Given the description of an element on the screen output the (x, y) to click on. 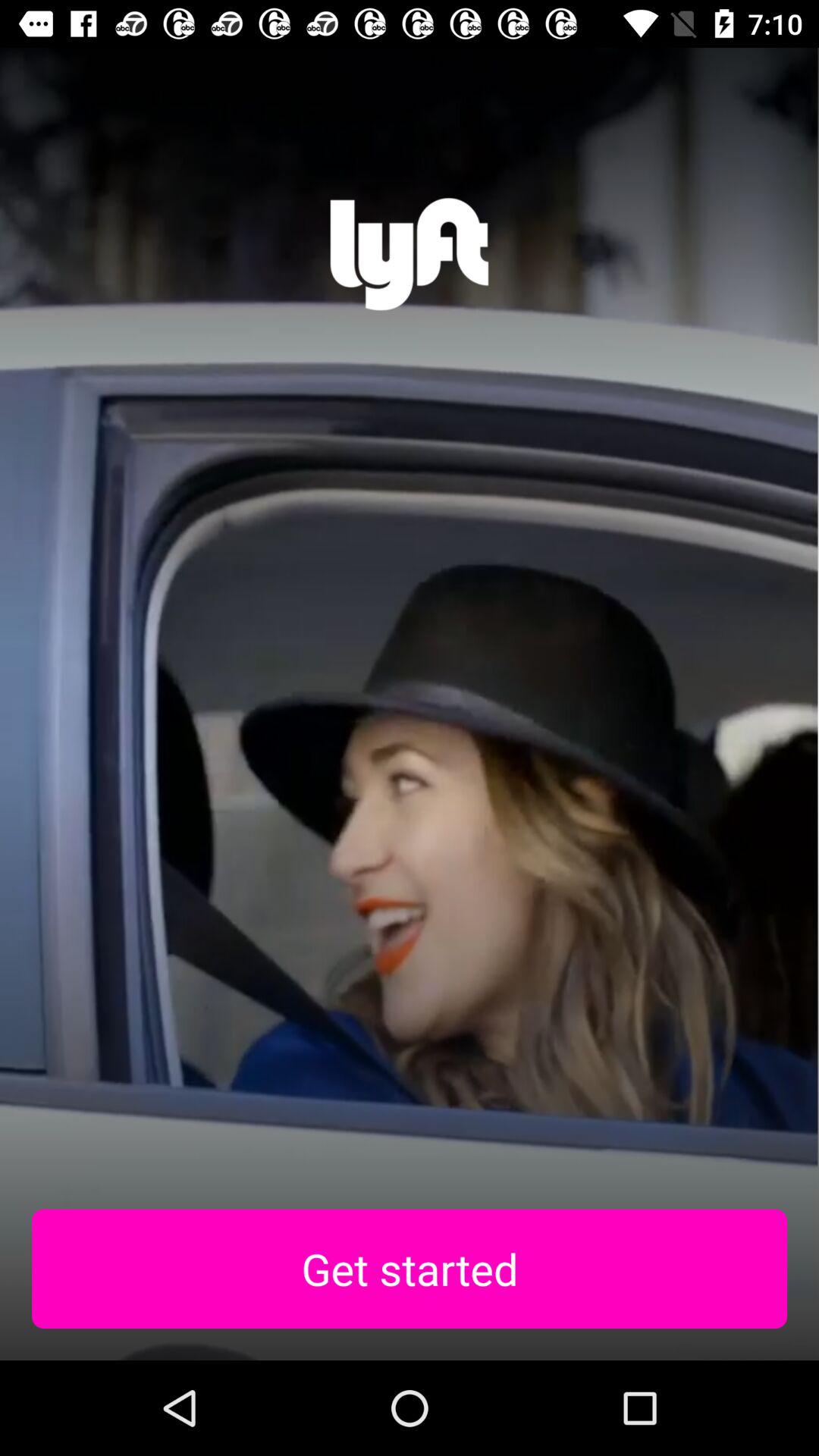
swipe until get started app (409, 1268)
